Given the description of an element on the screen output the (x, y) to click on. 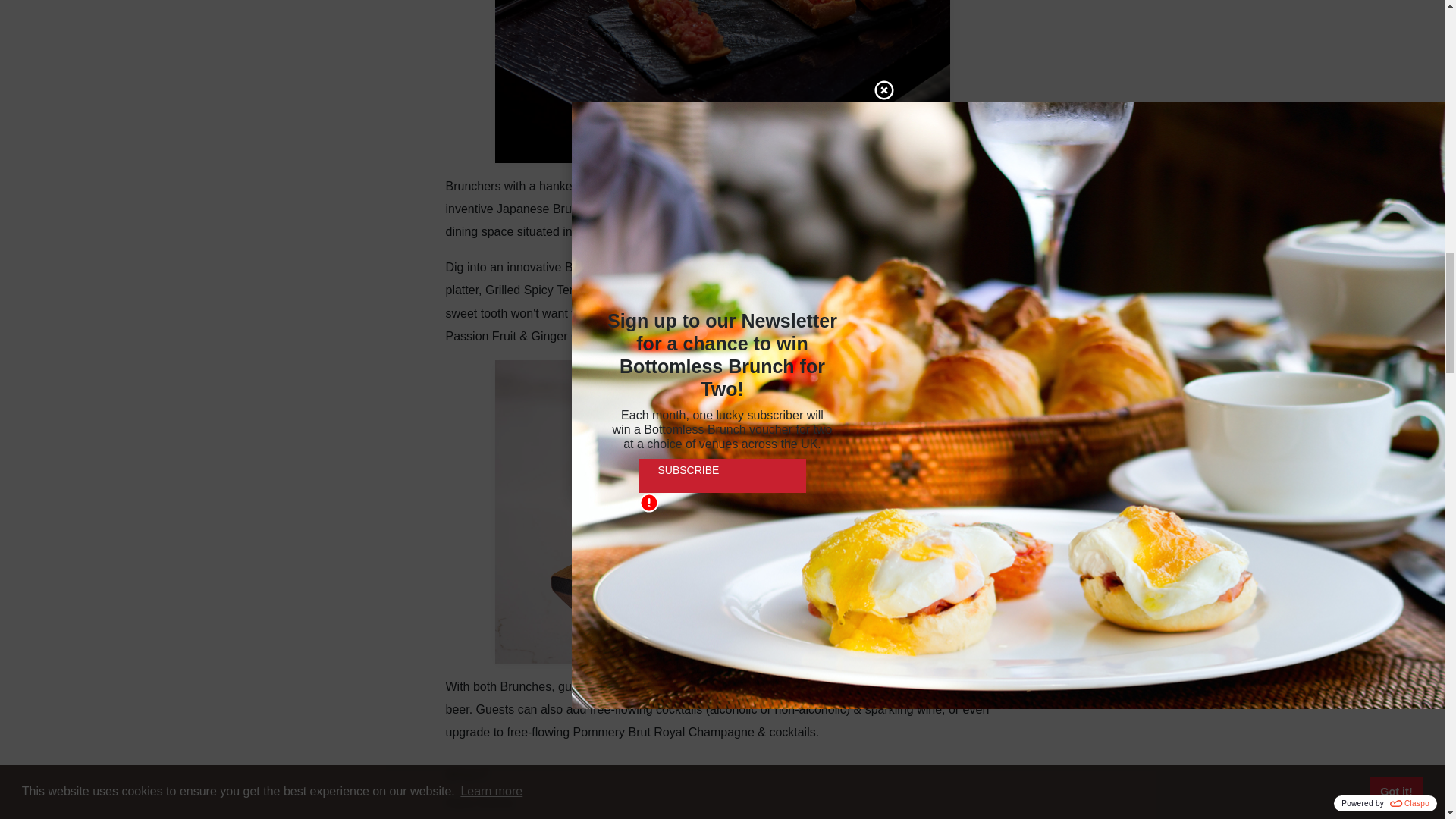
undefined (722, 81)
